Given the description of an element on the screen output the (x, y) to click on. 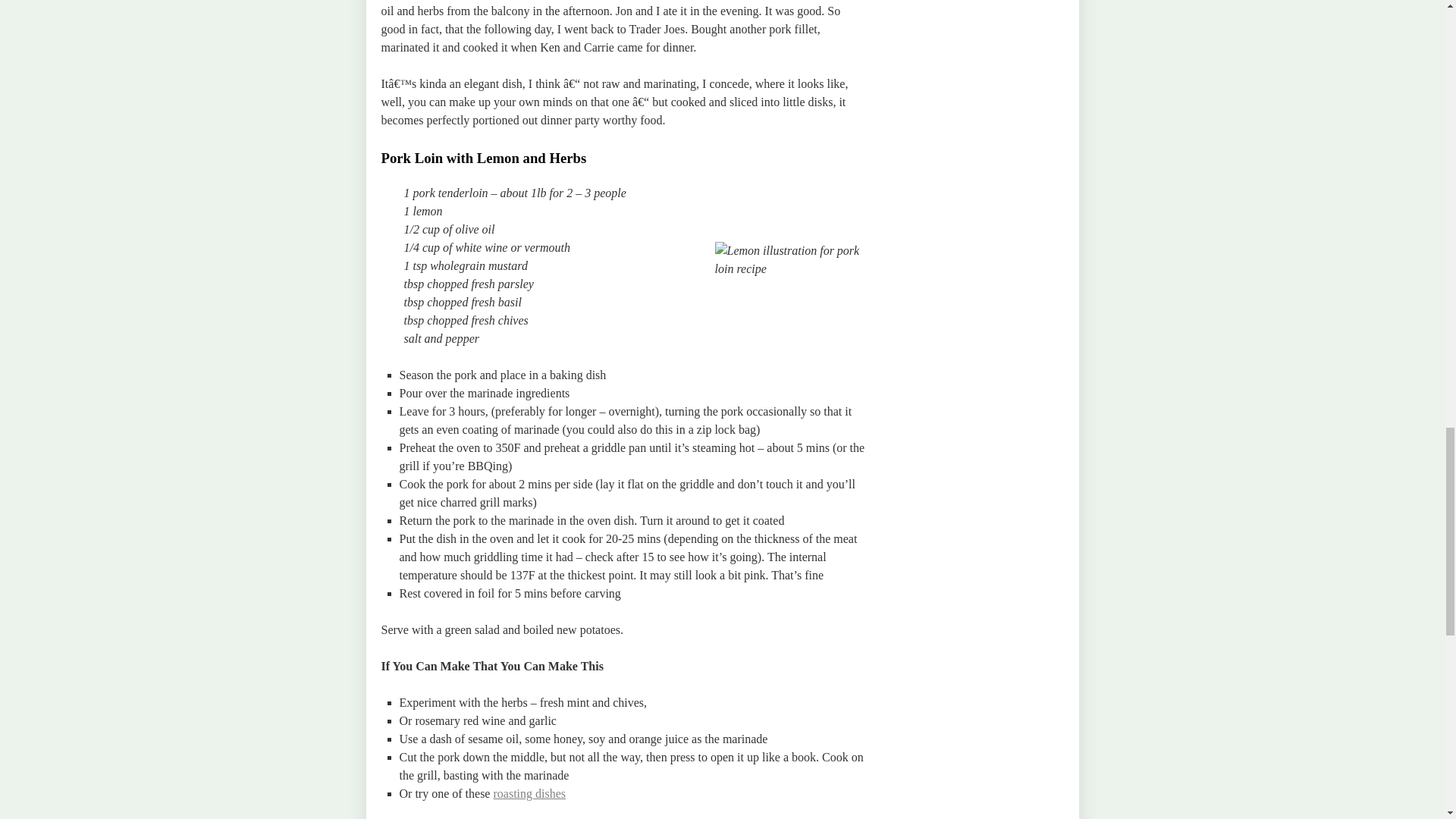
roasting dishes (529, 793)
